Given the description of an element on the screen output the (x, y) to click on. 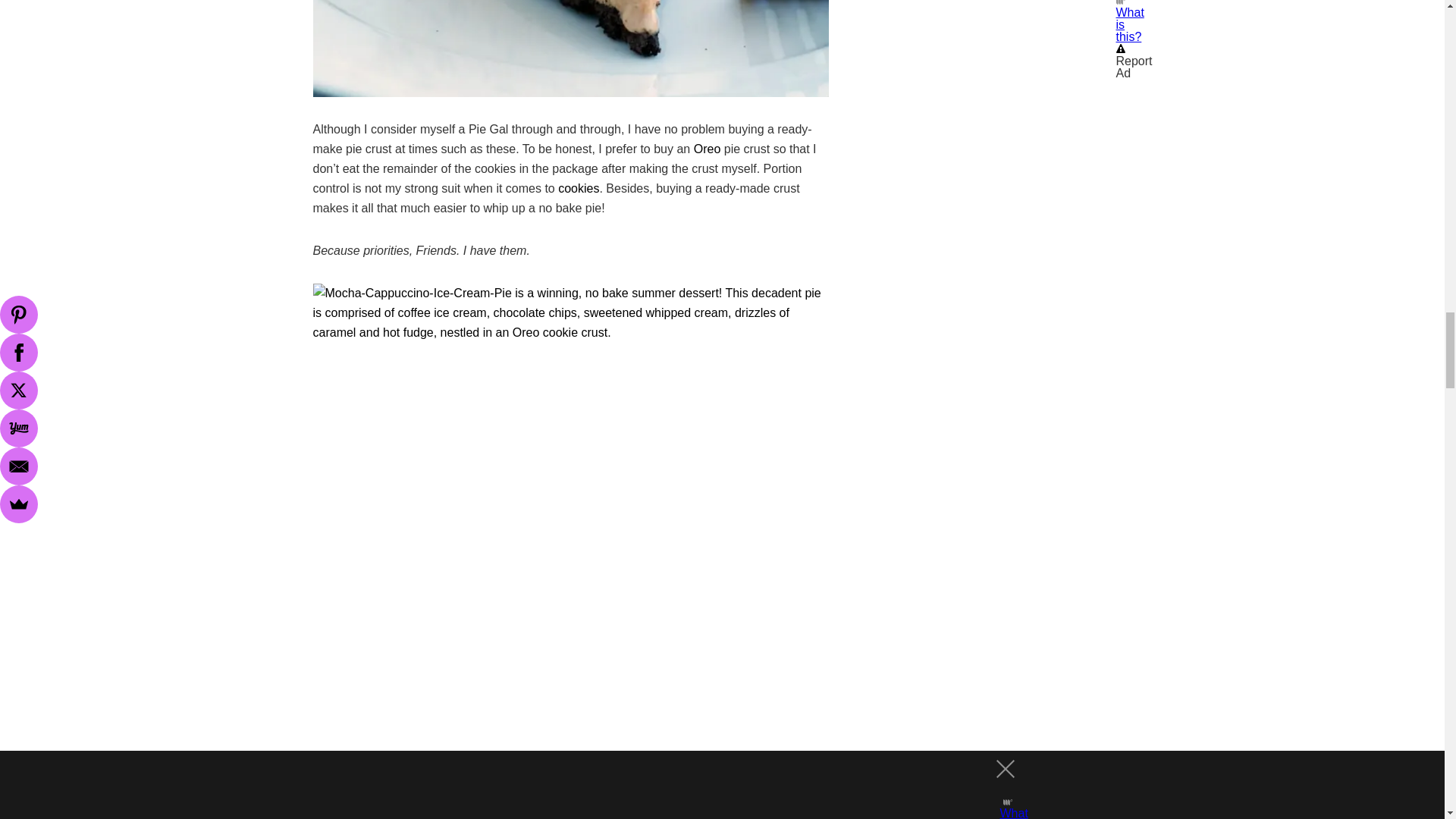
cookies (577, 187)
Oreo (707, 148)
